Given the description of an element on the screen output the (x, y) to click on. 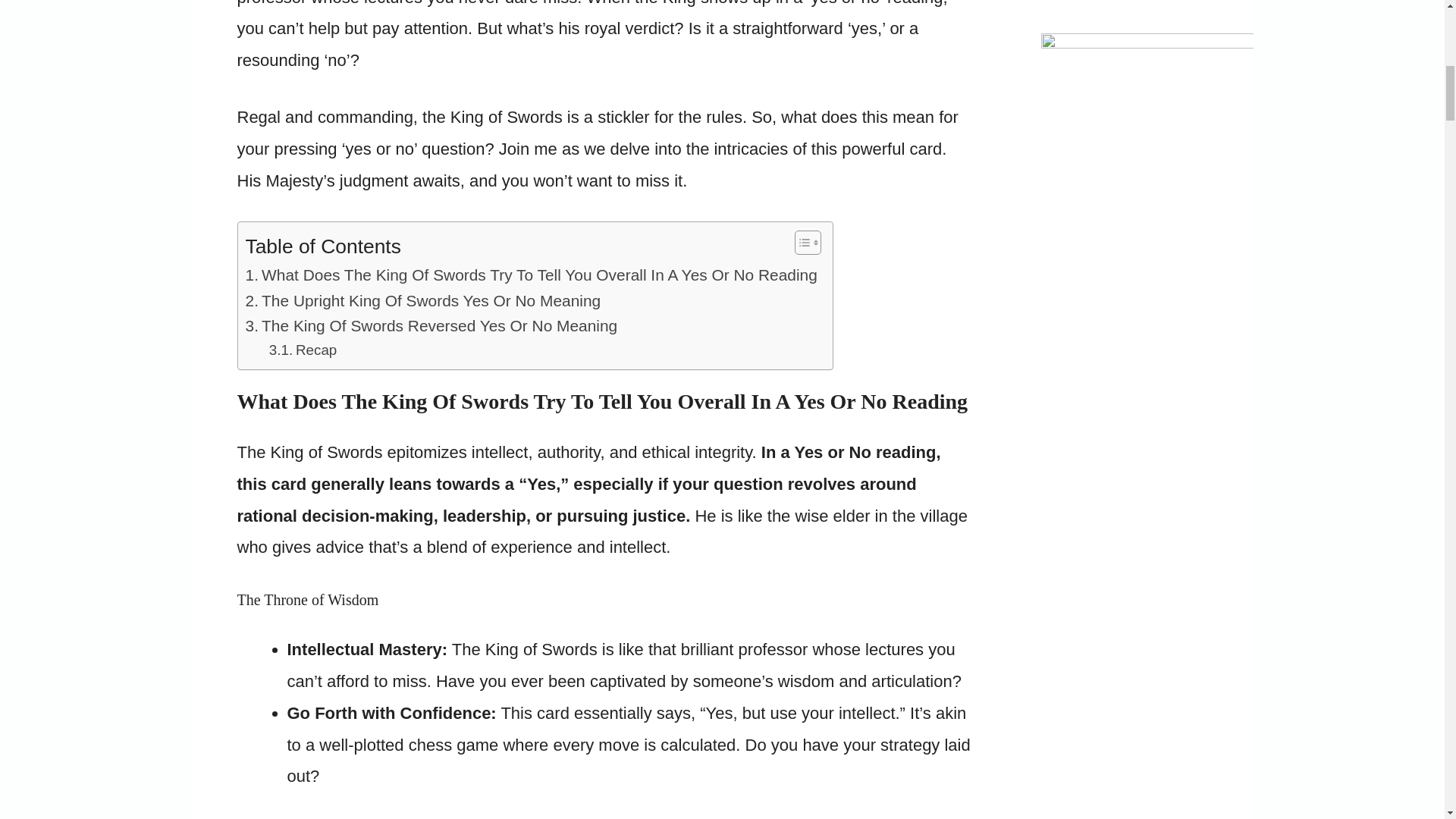
The King Of Swords Reversed Yes Or No Meaning (431, 325)
Recap (302, 350)
The Upright King Of Swords Yes Or No Meaning  (425, 300)
Recap (302, 350)
The King Of Swords Reversed Yes Or No Meaning (431, 325)
